Given the description of an element on the screen output the (x, y) to click on. 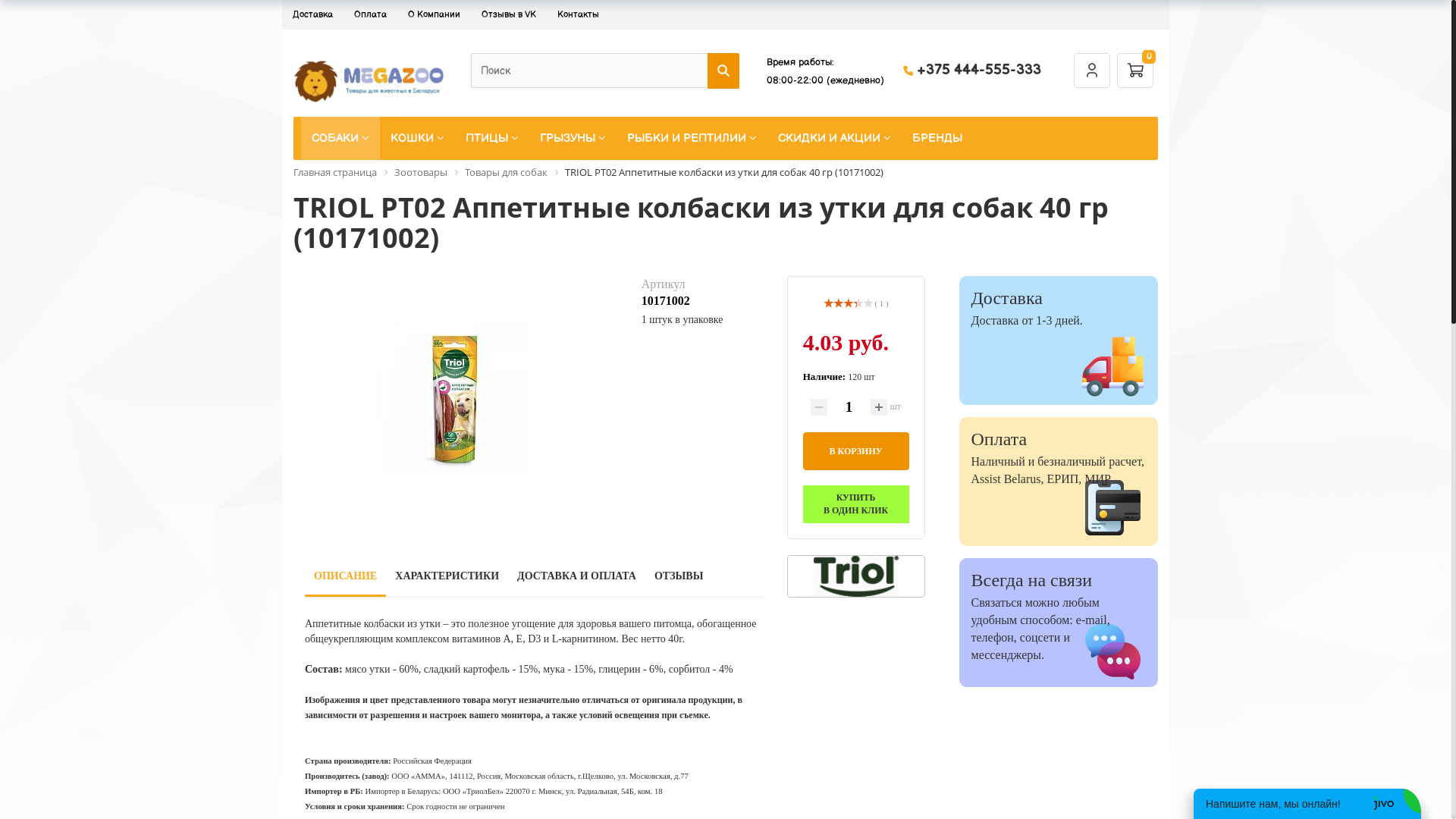
0 Element type: text (1135, 69)
0 Element type: text (28, 14)
0 Element type: text (26, 14)
+375 444-555-333 Element type: text (978, 69)
0 Element type: text (38, 14)
0 Element type: text (20, 14)
0 Element type: text (23, 14)
0 Element type: text (28, 14)
